Given the description of an element on the screen output the (x, y) to click on. 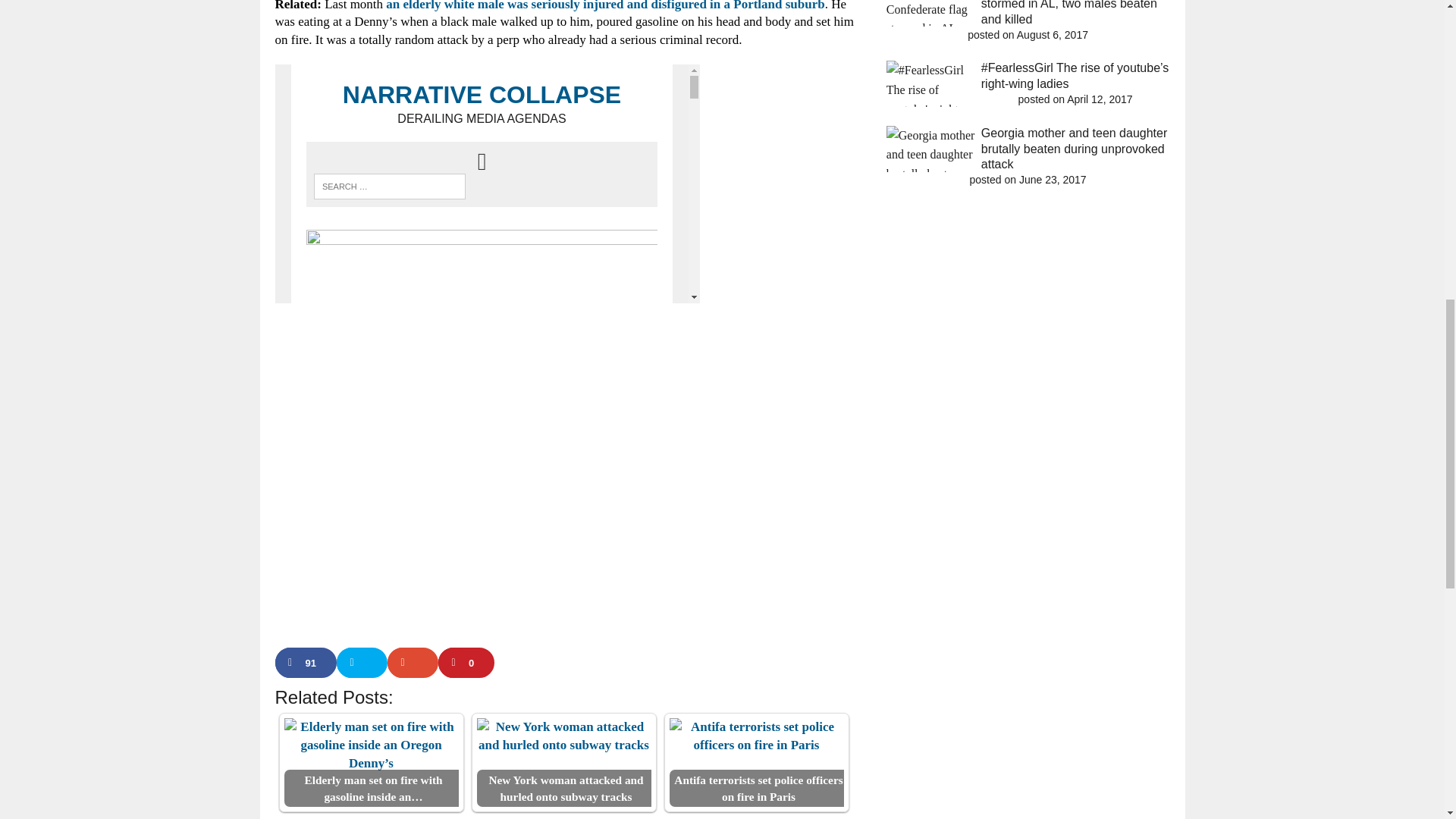
New York woman attacked and hurled onto subway tracks (563, 762)
New York woman attacked and hurled onto subway tracks (563, 736)
91 (305, 662)
Antifa terrorists set police officers on fire in Paris (755, 736)
Antifa terrorists set police officers on fire in Paris (755, 762)
